Given the description of an element on the screen output the (x, y) to click on. 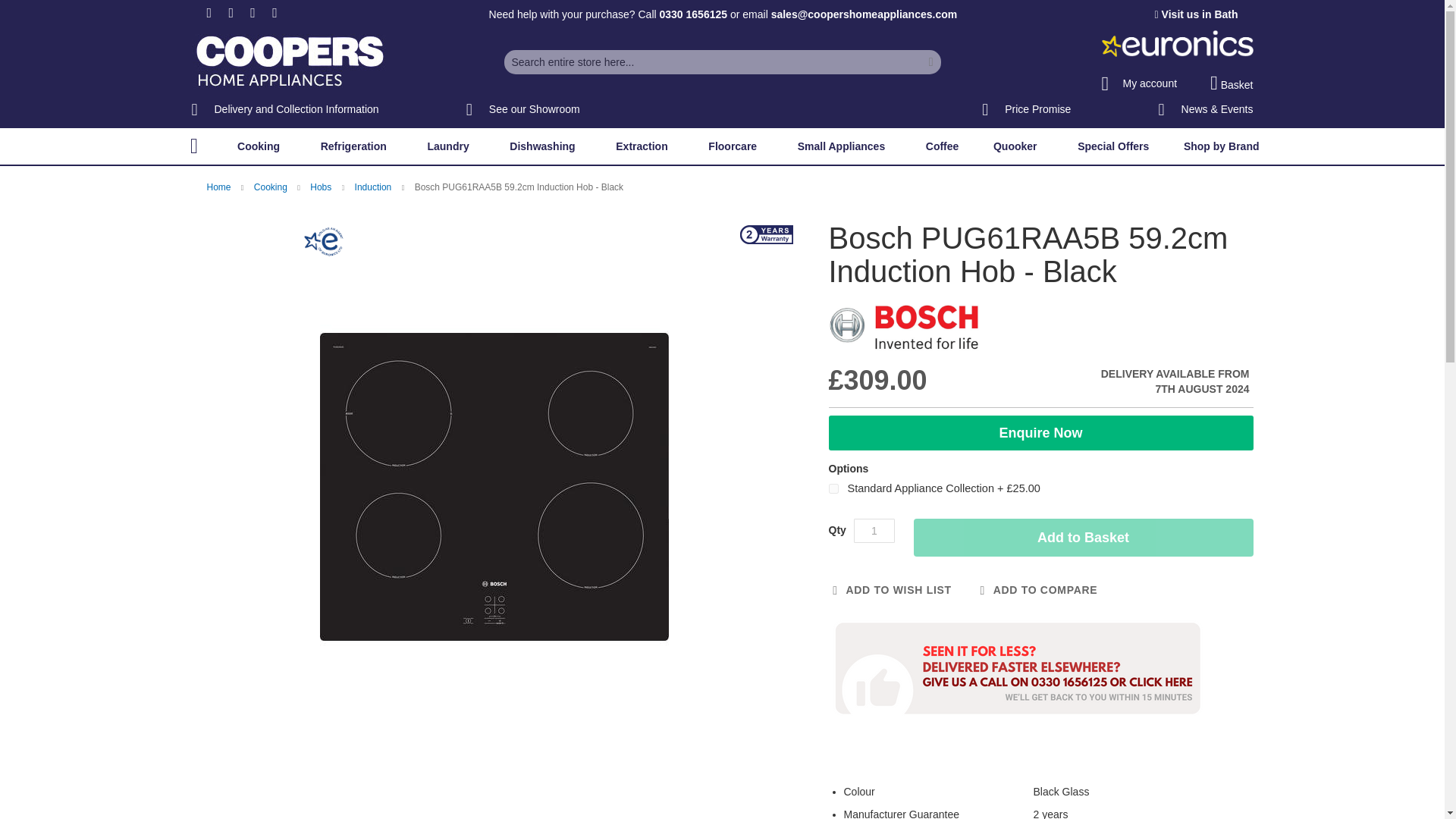
My account (1138, 79)
Warranty 2 Year (766, 234)
Availability (1135, 381)
Visit us in Bath (1196, 14)
Euronics Agency (323, 245)
Home (193, 145)
Go to Home Page (219, 186)
Customer reviews powered by Trustpilot (780, 111)
Qty (874, 530)
0330 1656125 (693, 14)
See our Showroom (522, 109)
Price Promise (1025, 109)
Delivery and Collection Information (284, 109)
For more on Bosch, click here. (903, 326)
Add to Basket (1082, 537)
